Given the description of an element on the screen output the (x, y) to click on. 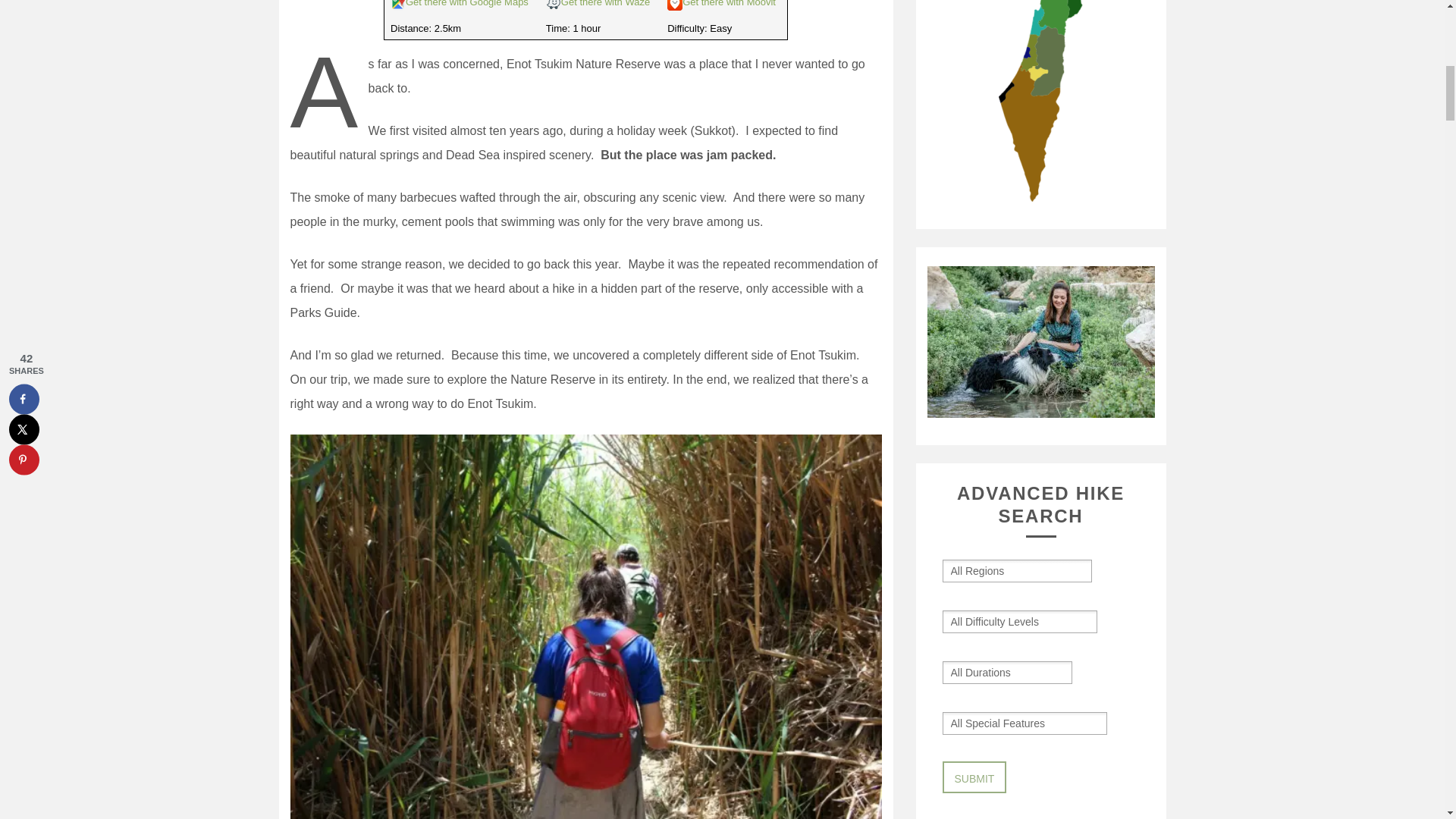
All Durations (989, 672)
All Special Features (1006, 723)
All Regions (986, 570)
All Special Features (1006, 723)
Get there with Waze (604, 3)
All Regions (986, 570)
All Durations (989, 672)
Get there with Moovit (729, 3)
Get there with Google Maps (467, 3)
All Difficulty Levels (1003, 621)
SUBMIT (974, 777)
All Difficulty Levels (1003, 621)
